Given the description of an element on the screen output the (x, y) to click on. 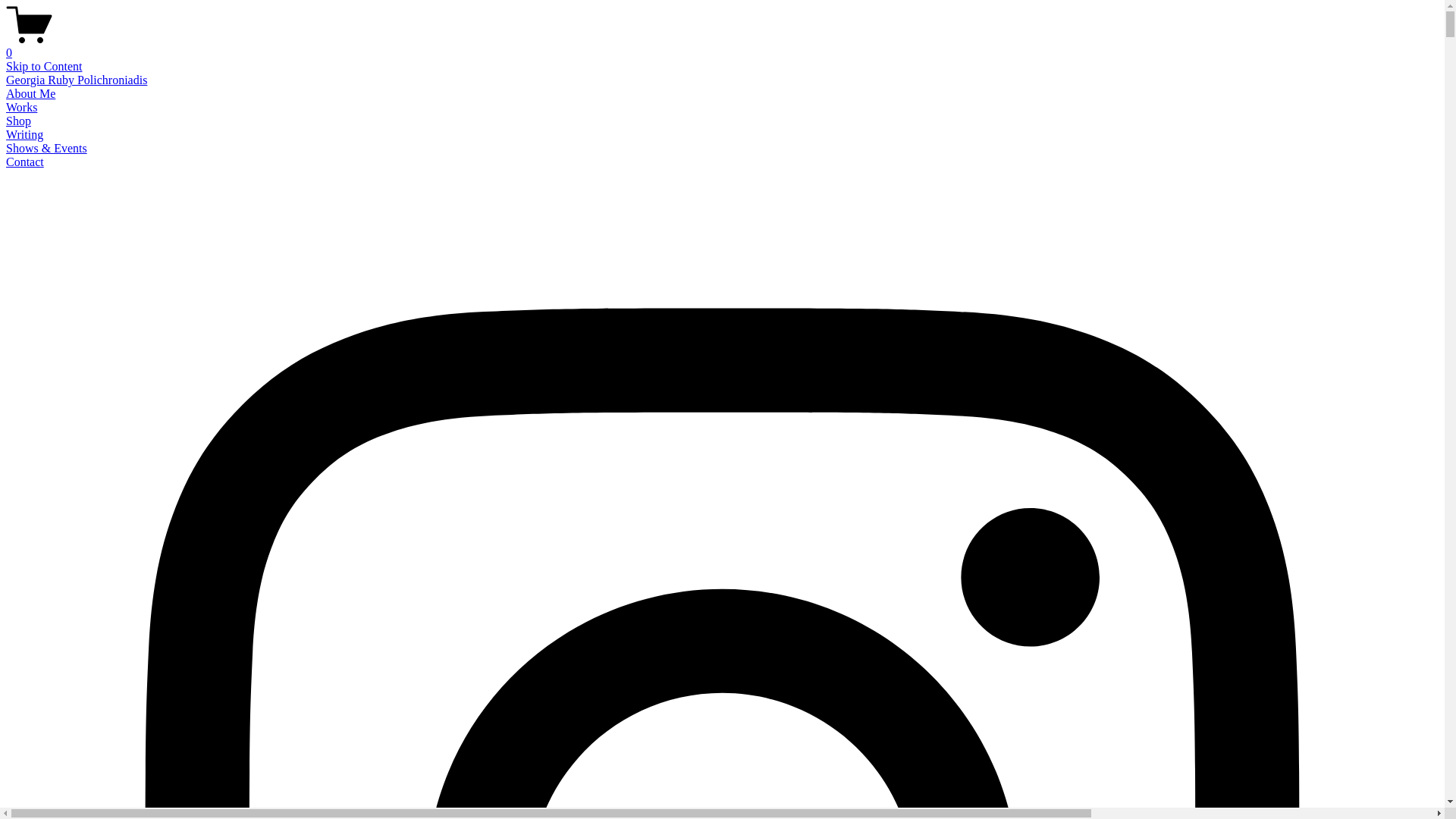
Shows & Events Element type: text (46, 147)
About Me Element type: text (30, 93)
0 Element type: text (722, 45)
Contact Element type: text (24, 161)
Shop Element type: text (18, 120)
Works Element type: text (21, 106)
Georgia Ruby Polichroniadis Element type: text (76, 79)
Writing Element type: text (24, 134)
Skip to Content Element type: text (43, 65)
